Given the description of an element on the screen output the (x, y) to click on. 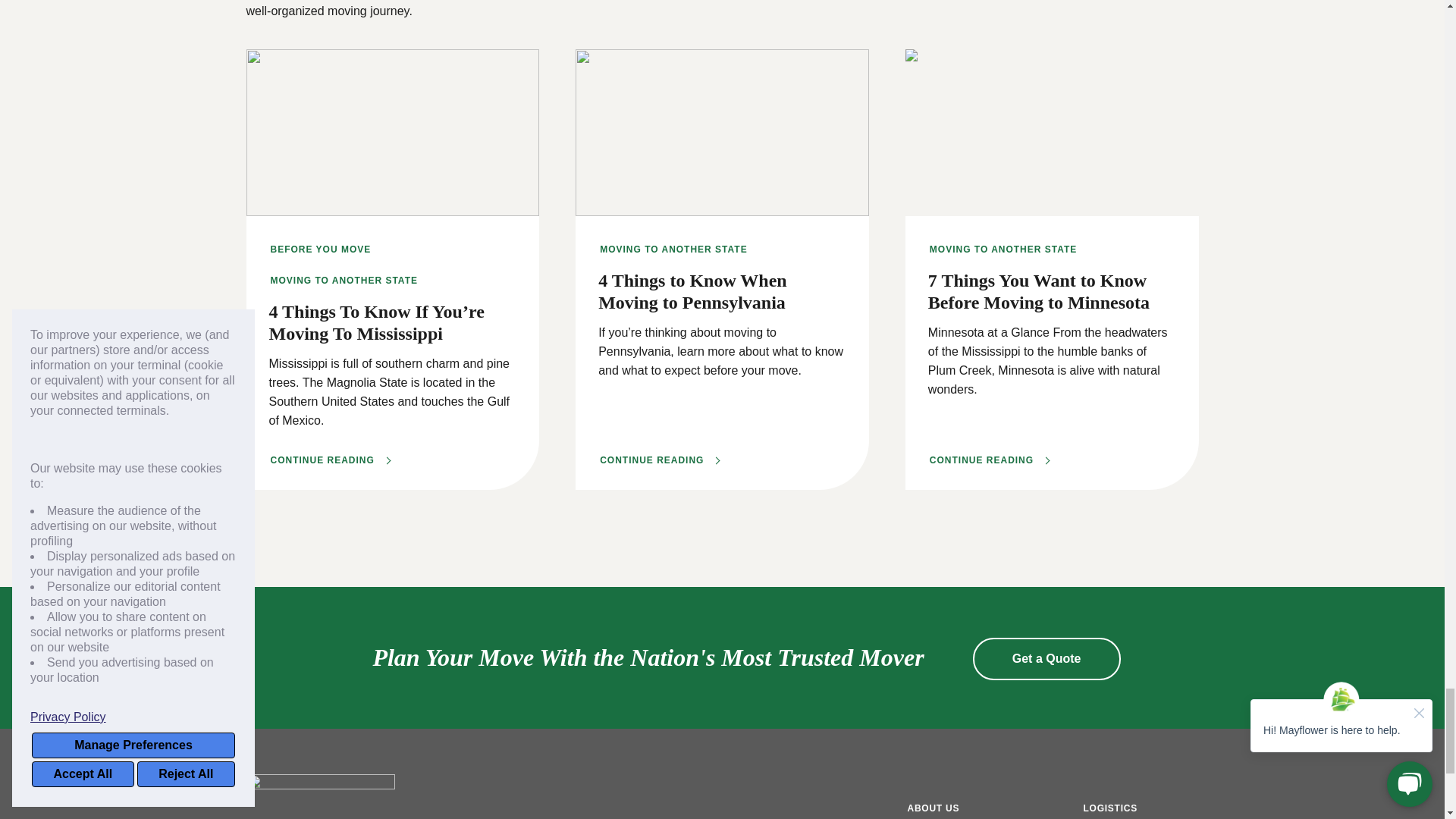
7 Things You Want to Know Before Moving to Minnesota (988, 460)
4 Things to Know When Moving to Pennsylvania (659, 460)
